Given the description of an element on the screen output the (x, y) to click on. 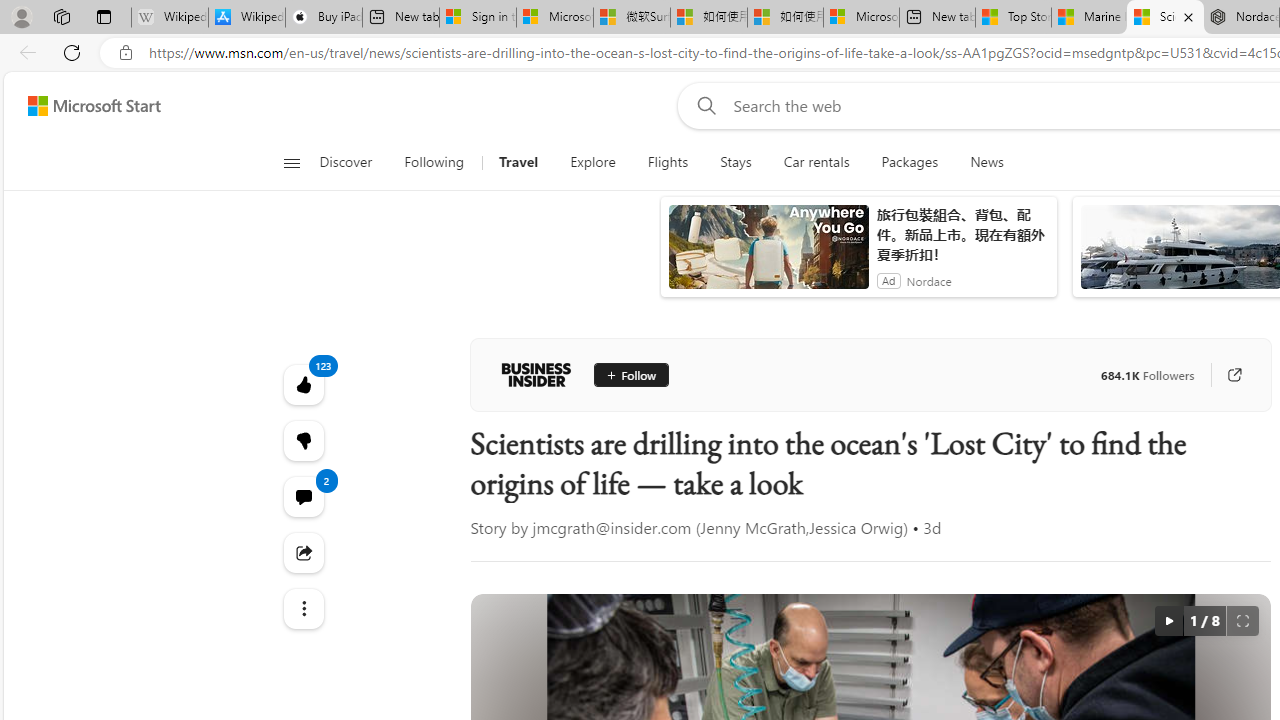
Class: at-item (302, 609)
Microsoft account | Account Checkup (861, 17)
Follow (630, 374)
Packages (909, 162)
Full screen (1242, 620)
anim-content (768, 255)
Flights (667, 162)
